Given the description of an element on the screen output the (x, y) to click on. 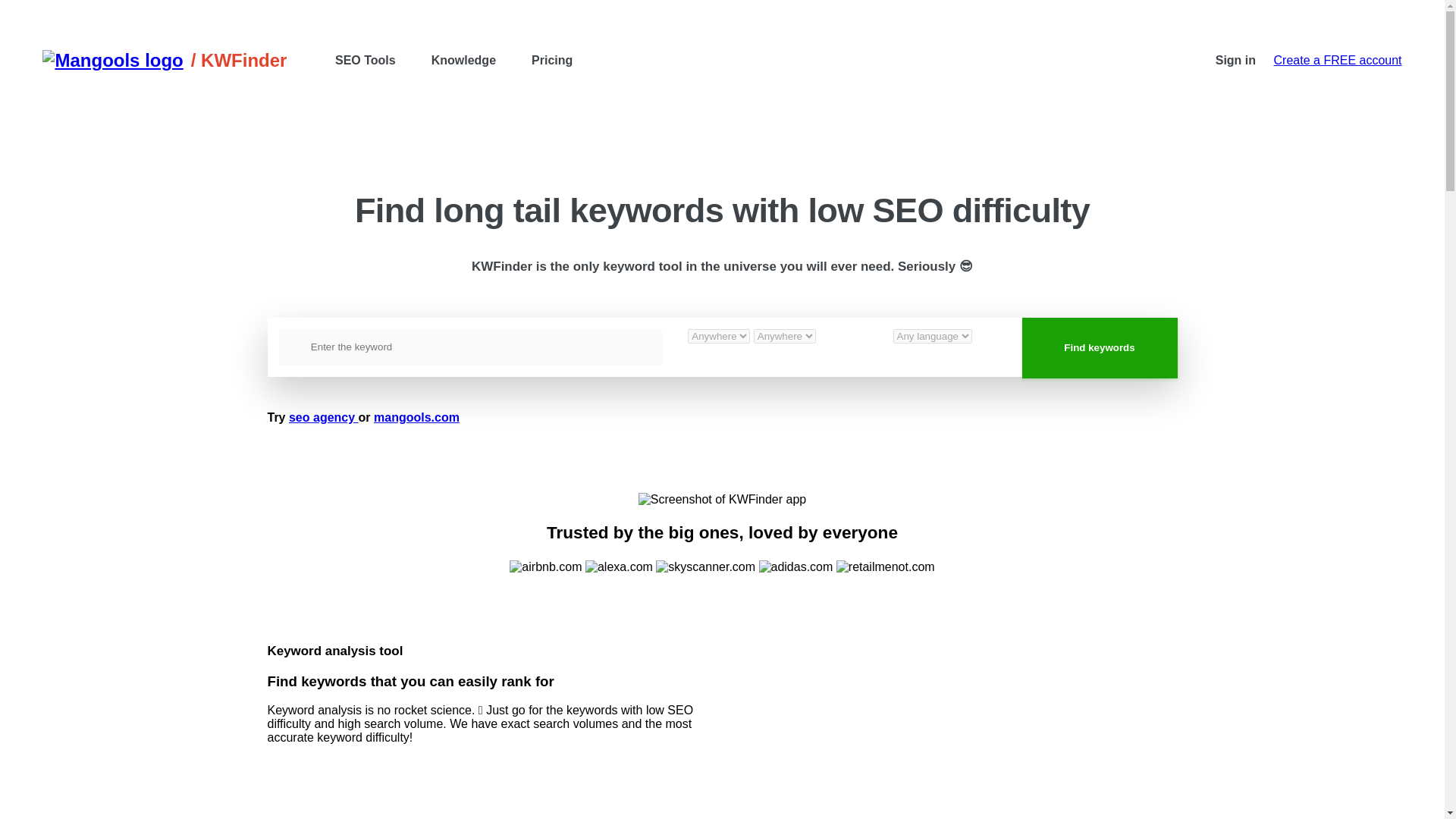
Mangools homepage (116, 60)
Sign in (1234, 60)
Search query (470, 347)
SEO Tools (365, 60)
Select location (718, 336)
YouTube video player (934, 693)
Select location (784, 336)
KWFinder home (238, 60)
Pricing (552, 60)
seo agency (323, 417)
Create a FREE account (1338, 60)
mangools.com (417, 417)
Knowledge (463, 60)
Select language (932, 336)
Find keywords (1099, 347)
